Given the description of an element on the screen output the (x, y) to click on. 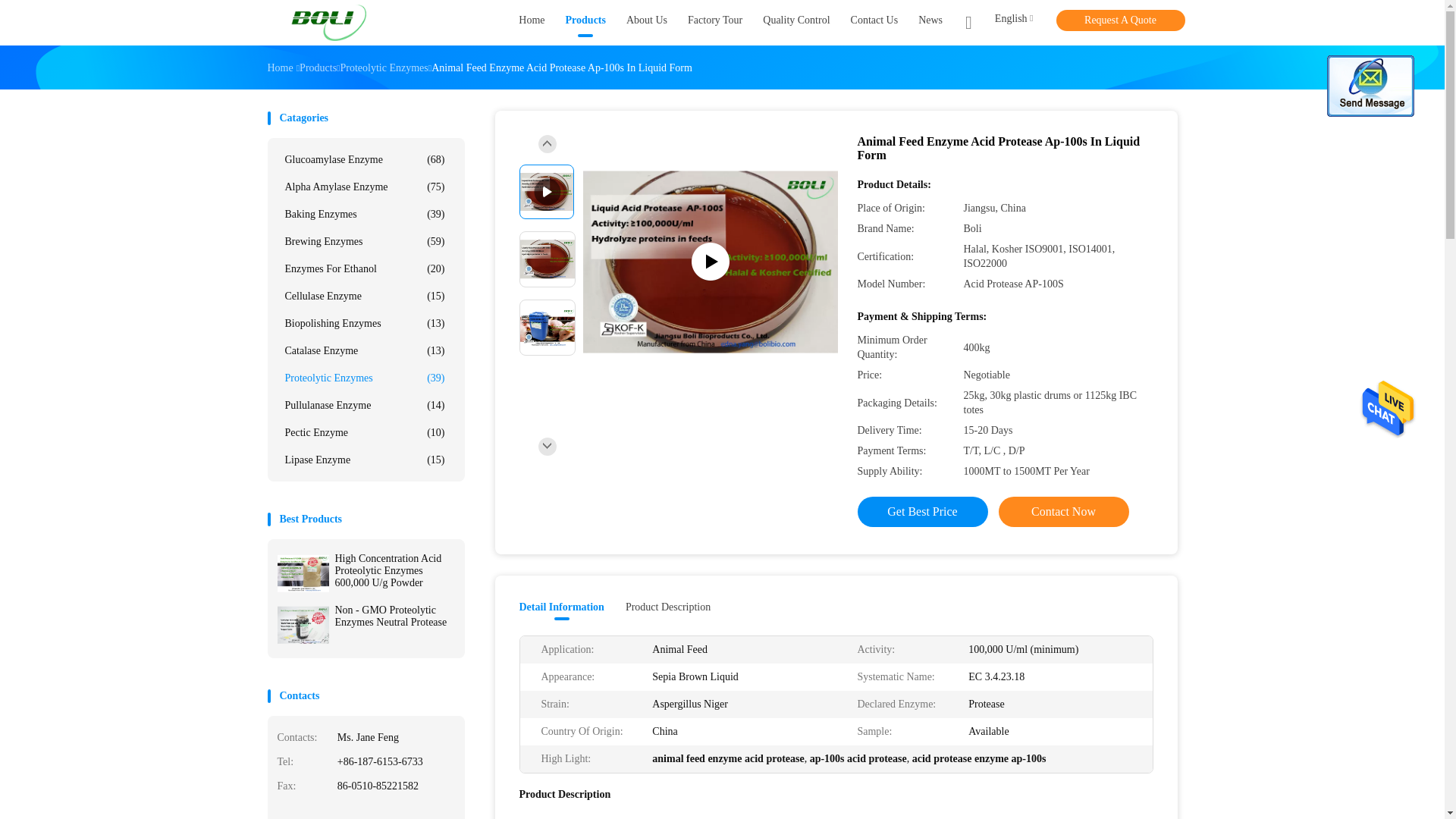
Home (531, 22)
Request A Quote (1120, 20)
News (930, 22)
Home (279, 67)
Proteolytic Enzymes (383, 67)
Products (585, 22)
About Us (646, 22)
Products (317, 67)
Contact Us (874, 22)
Jiangsu Boli Bioproducts Co., Ltd. (326, 22)
